Given the description of an element on the screen output the (x, y) to click on. 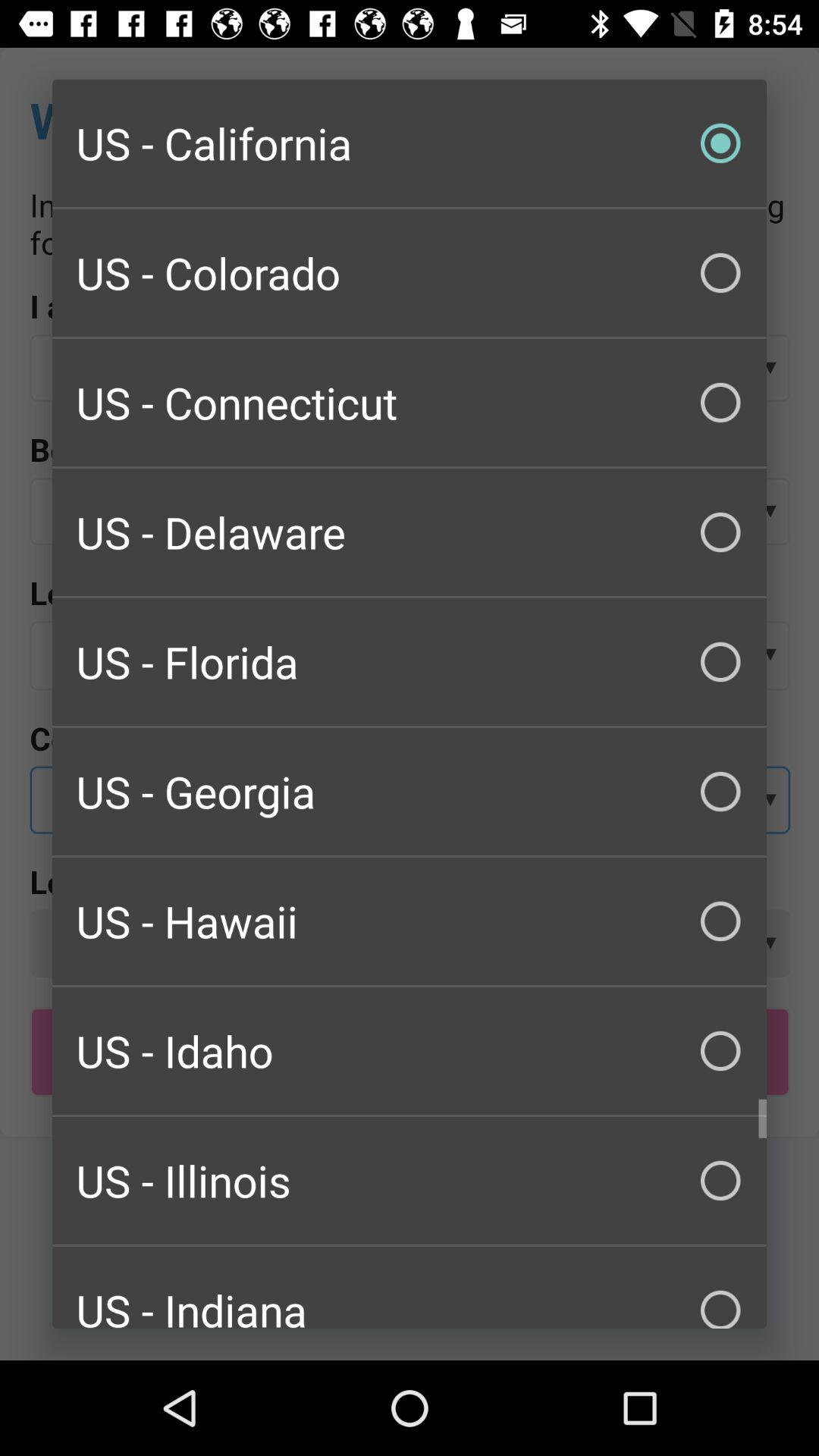
launch the us - florida (409, 661)
